Given the description of an element on the screen output the (x, y) to click on. 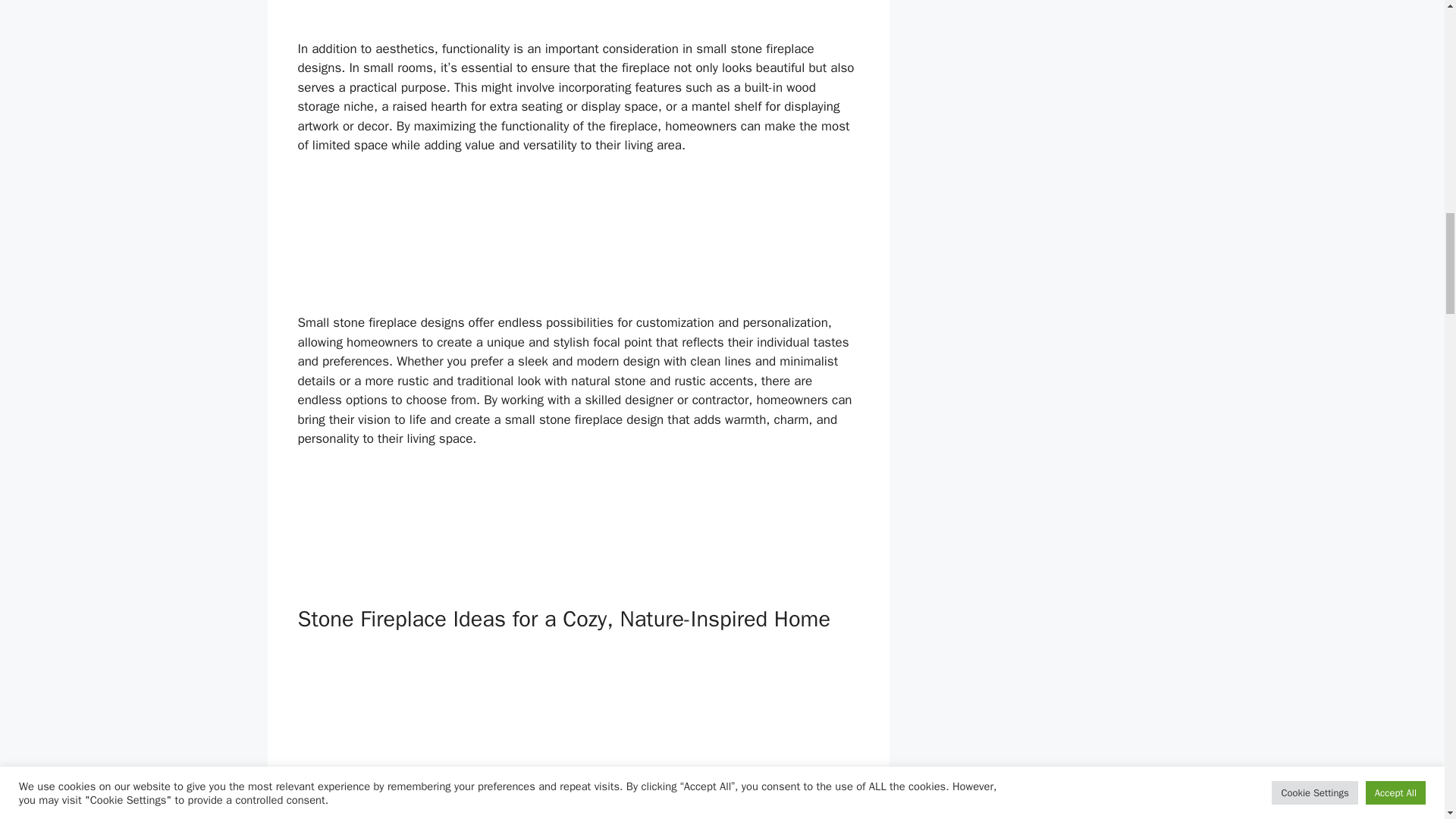
Advertisement (578, 16)
